Given the description of an element on the screen output the (x, y) to click on. 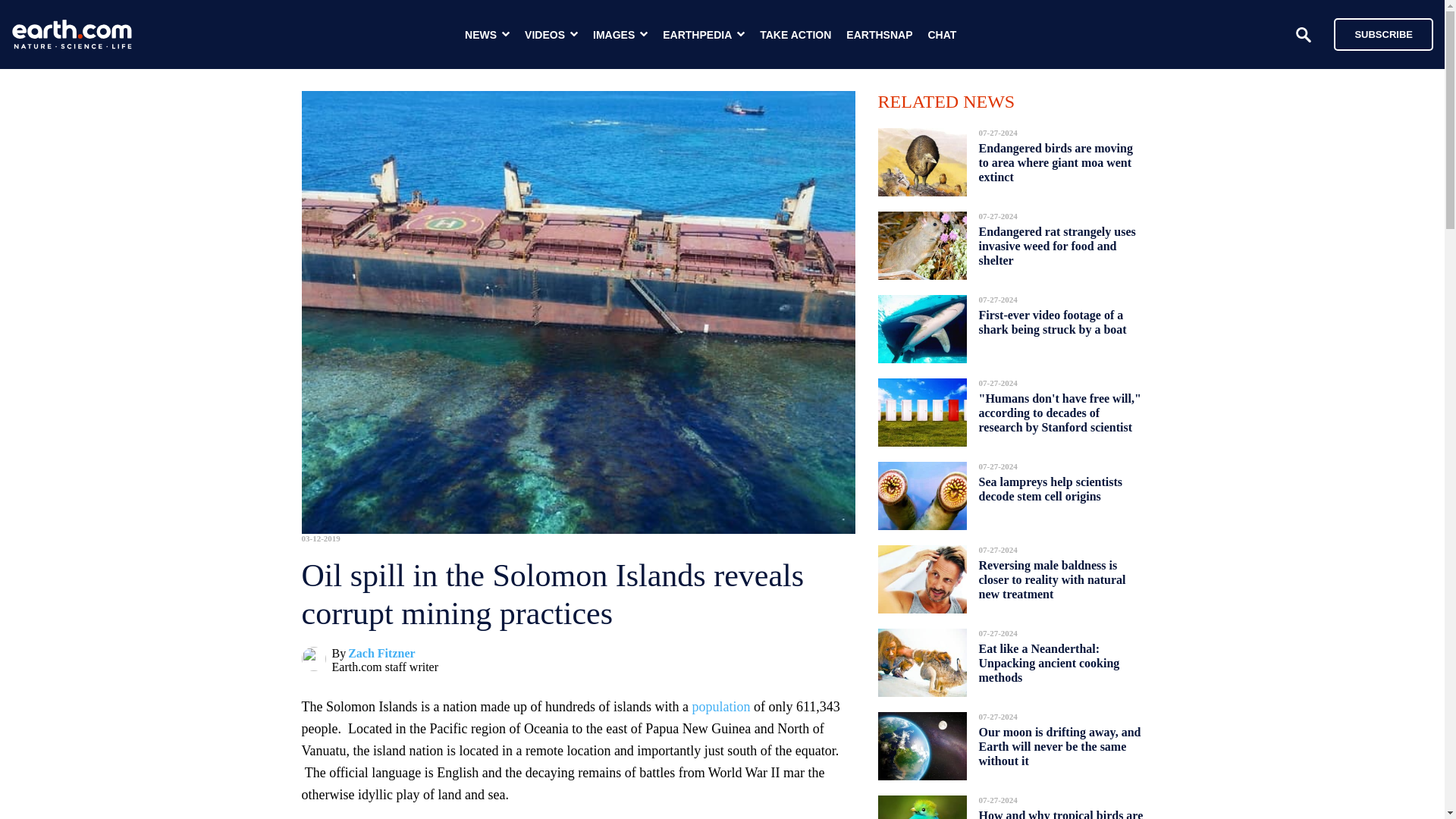
CHAT (941, 34)
EARTHSNAP (878, 34)
TAKE ACTION (795, 34)
SUBSCRIBE (1382, 34)
SUBSCRIBE (1375, 33)
Eat like a Neanderthal: Unpacking ancient cooking methods (1048, 662)
population (720, 706)
Sea lampreys help scientists decode stem cell origins (1049, 488)
Zach Fitzner (380, 653)
First-ever video footage of a shark being struck by a boat (1051, 322)
